Given the description of an element on the screen output the (x, y) to click on. 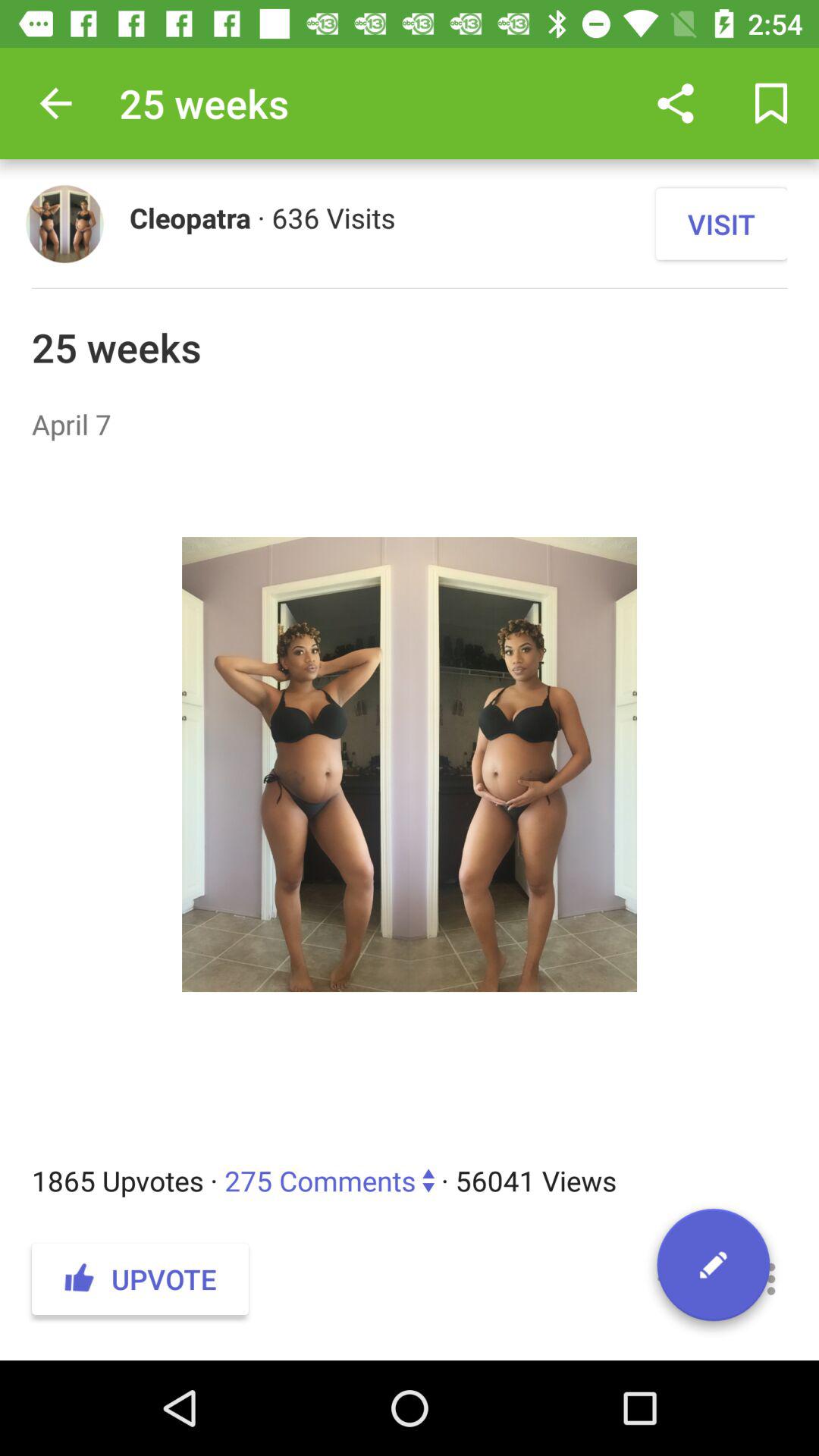
select item below 25 weeks (409, 424)
